Given the description of an element on the screen output the (x, y) to click on. 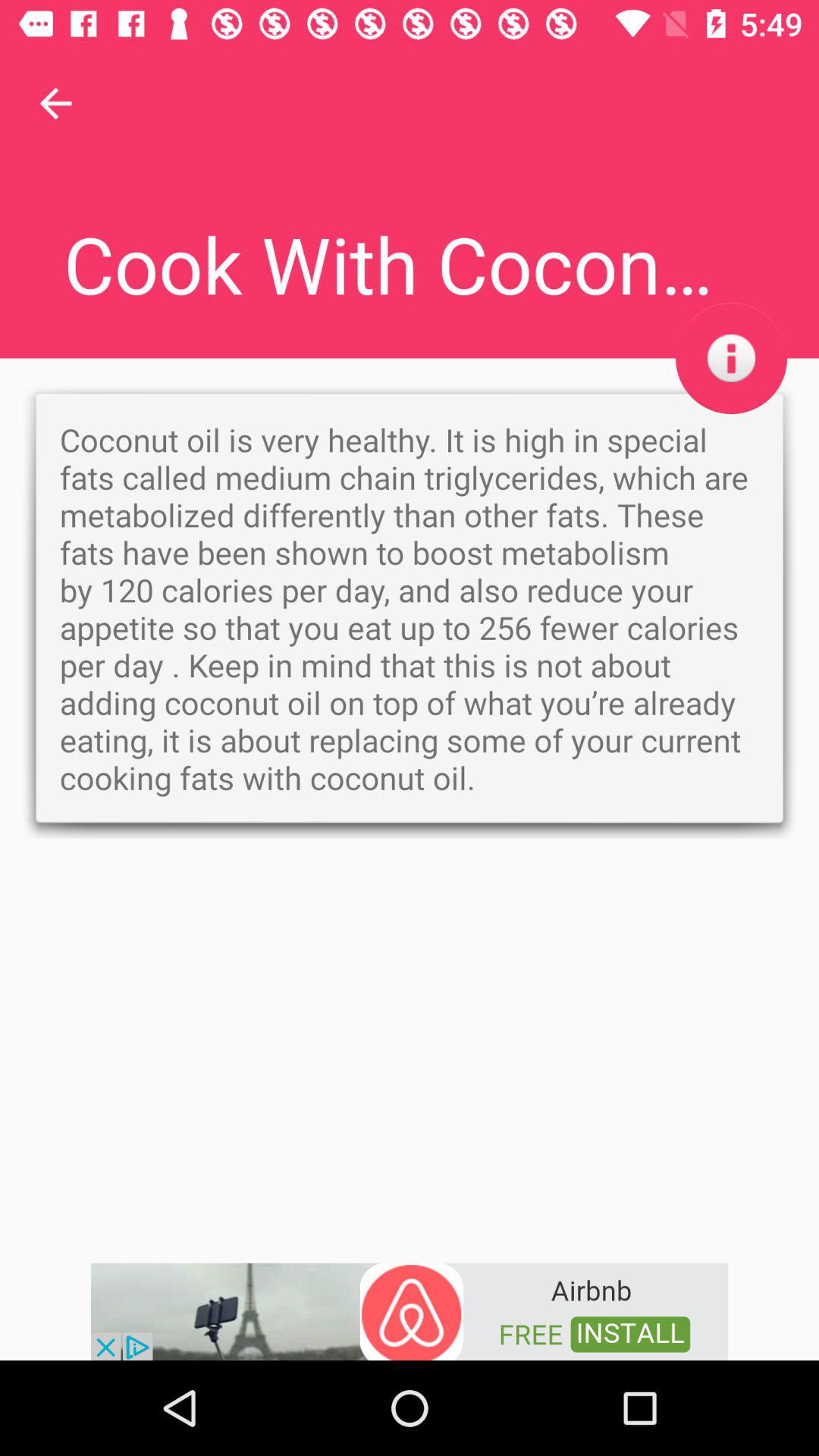
advertisements (409, 1310)
